Given the description of an element on the screen output the (x, y) to click on. 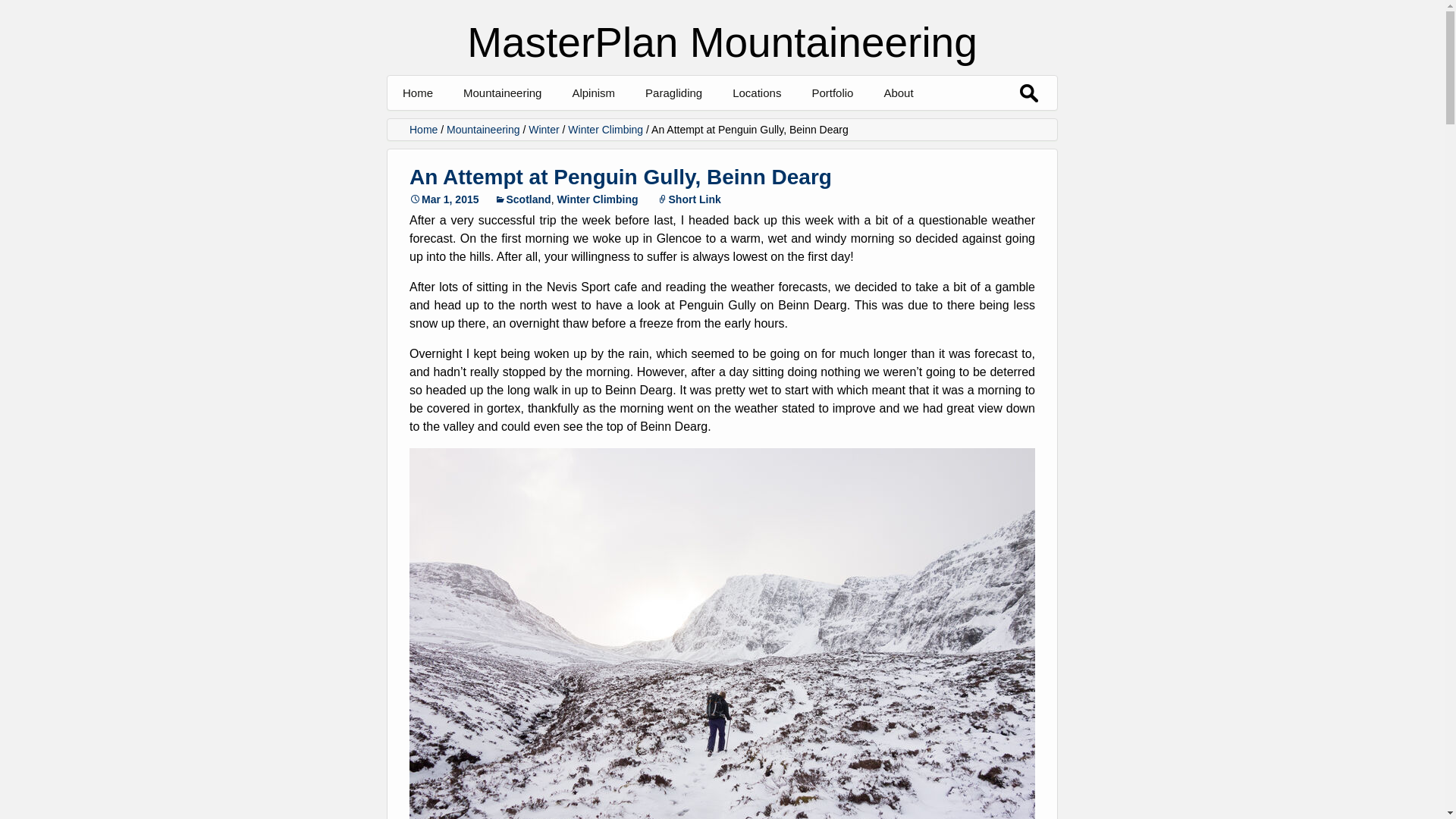
Locations (756, 92)
All (539, 126)
Portfolio (831, 92)
About (958, 126)
About (897, 92)
Home (417, 92)
Blog (647, 126)
Alpinism (593, 92)
Permalink to An Attempt at Penguin Gully, Beinn Dearg (444, 199)
Mountaineering (502, 92)
Paragliding (673, 92)
Climbing-Alpine (887, 126)
North Wales (808, 126)
